Given the description of an element on the screen output the (x, y) to click on. 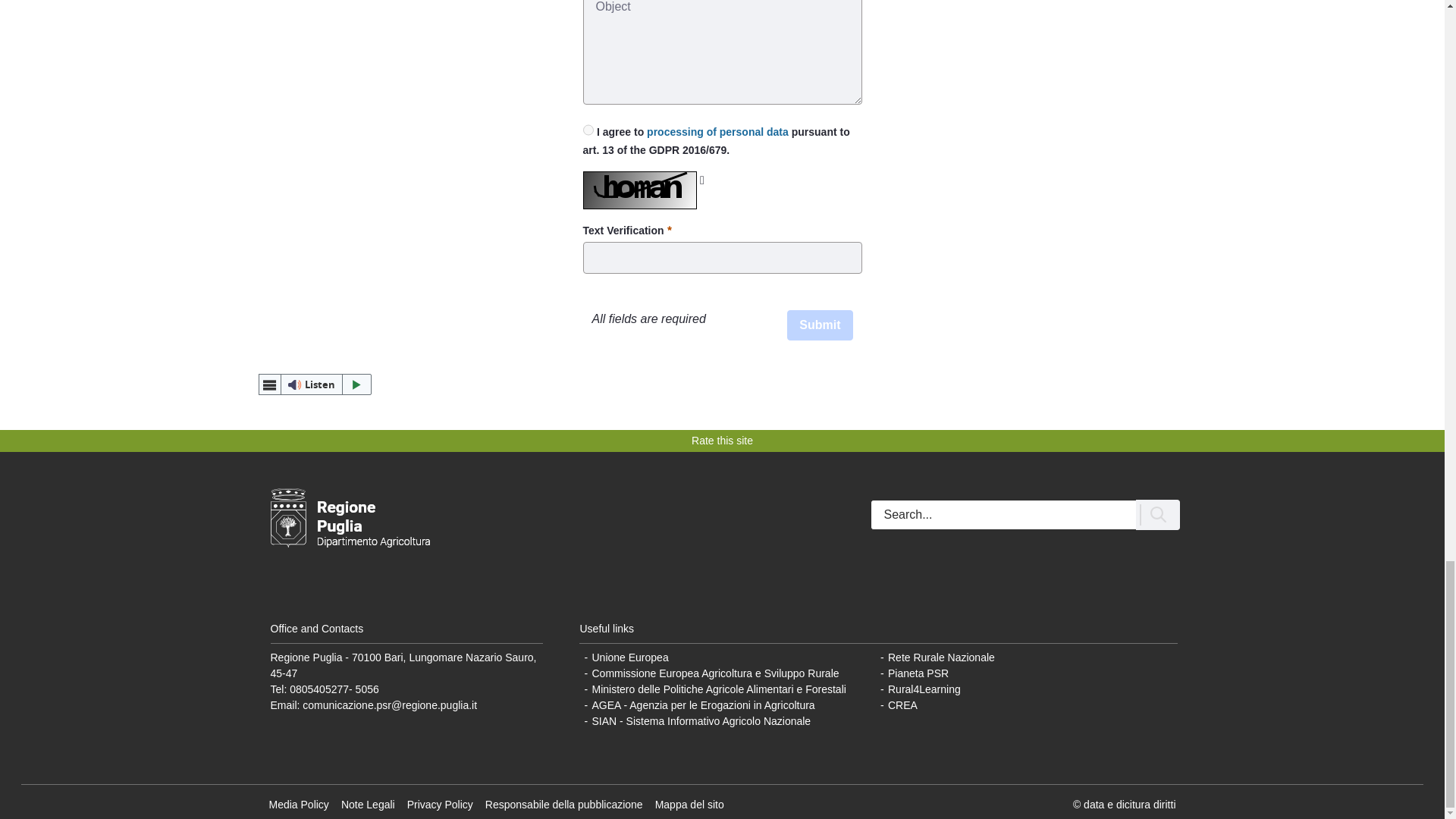
Message (721, 52)
